Given the description of an element on the screen output the (x, y) to click on. 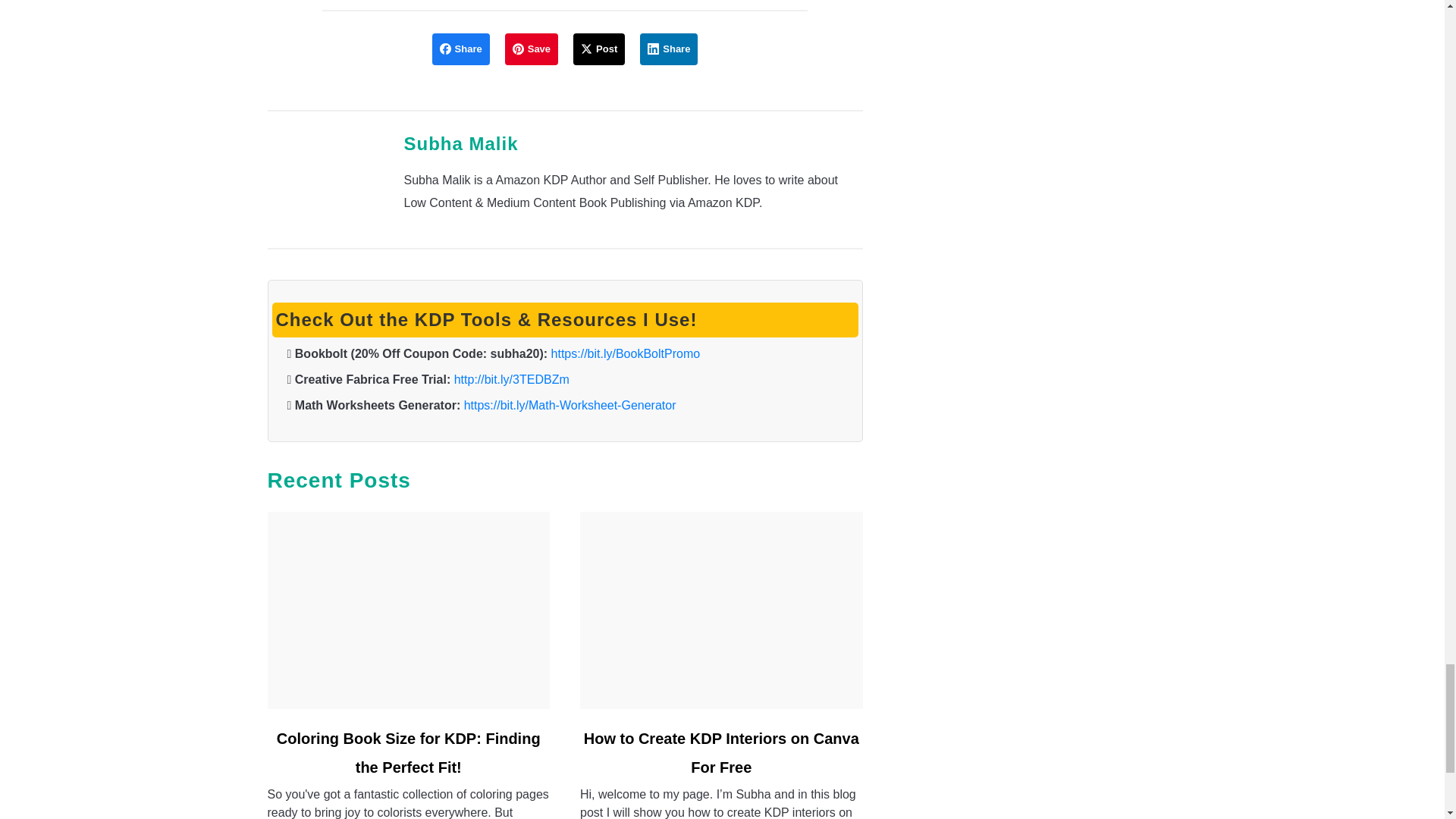
Save (531, 49)
Share (460, 49)
